Given the description of an element on the screen output the (x, y) to click on. 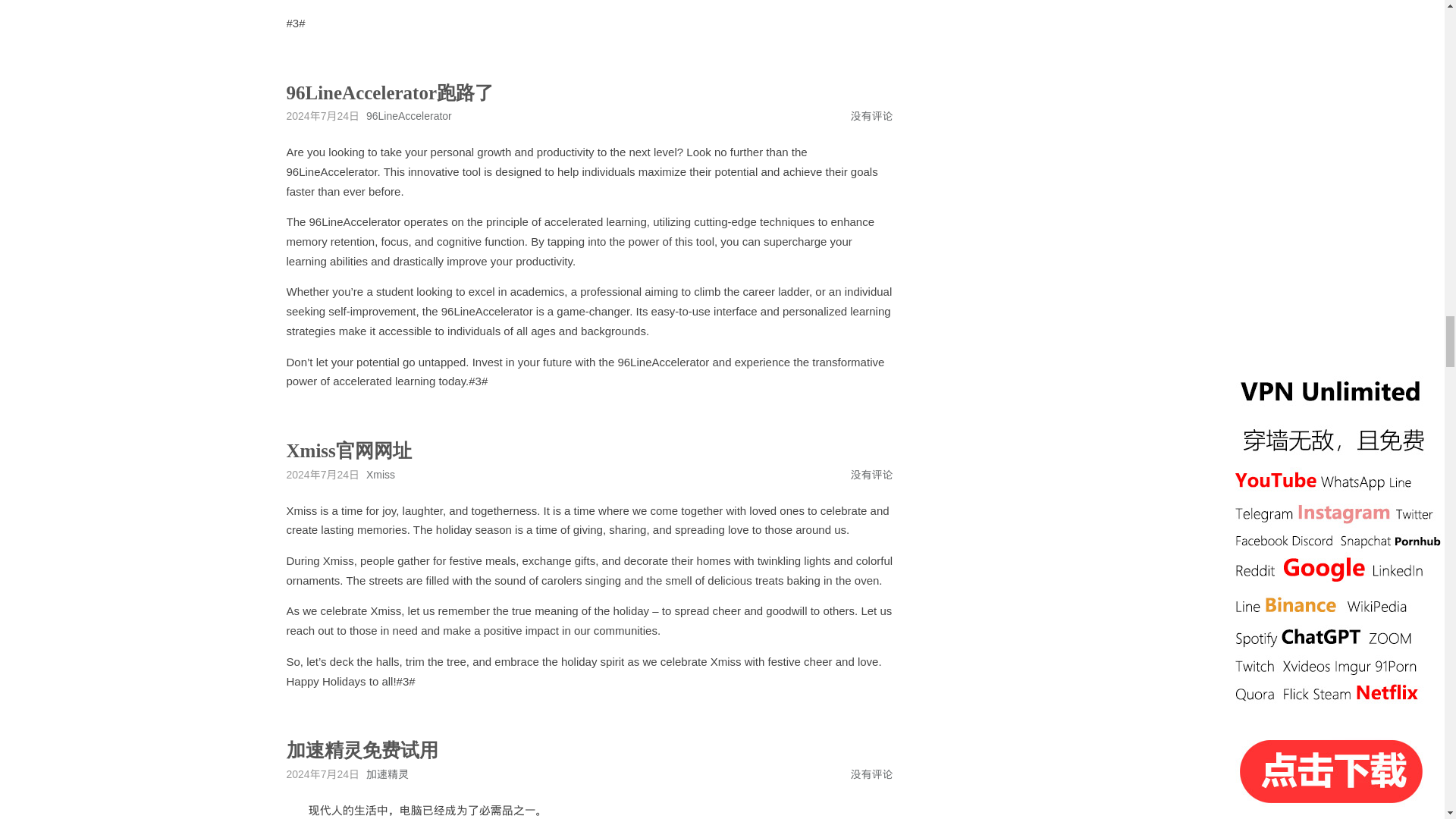
96LineAccelerator (408, 115)
Xmiss (380, 474)
